Given the description of an element on the screen output the (x, y) to click on. 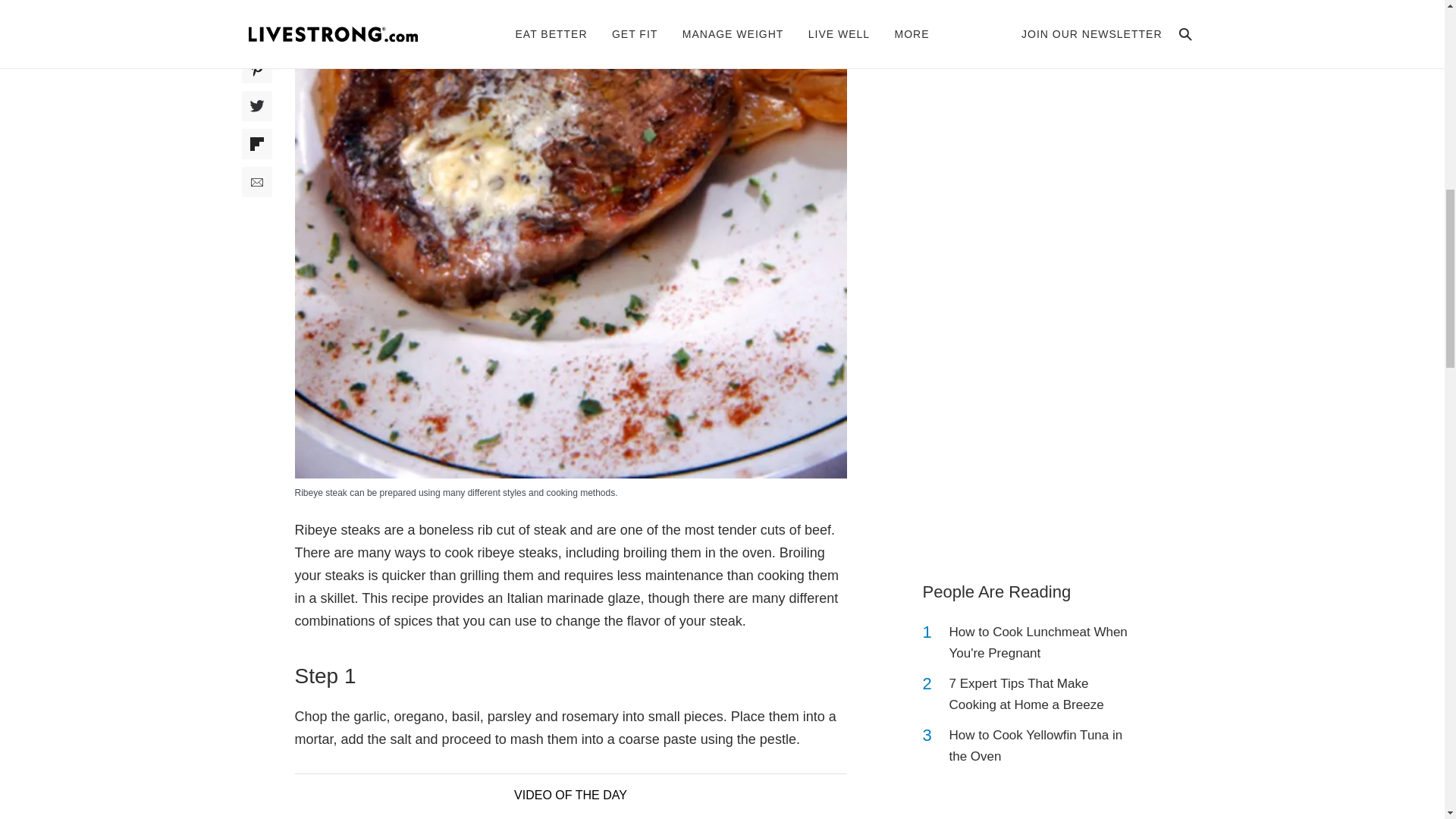
7 Expert Tips That Make Cooking at Home a Breeze (1042, 694)
How to Cook Yellowfin Tuna in the Oven (1042, 745)
How to Cook Lunchmeat When You're Pregnant (1042, 642)
How to Cook Yellowfin Tuna in the Oven (1042, 745)
How to Cook Lunchmeat When You're Pregnant (1042, 642)
7 Expert Tips That Make Cooking at Home a Breeze (1042, 694)
